Given the description of an element on the screen output the (x, y) to click on. 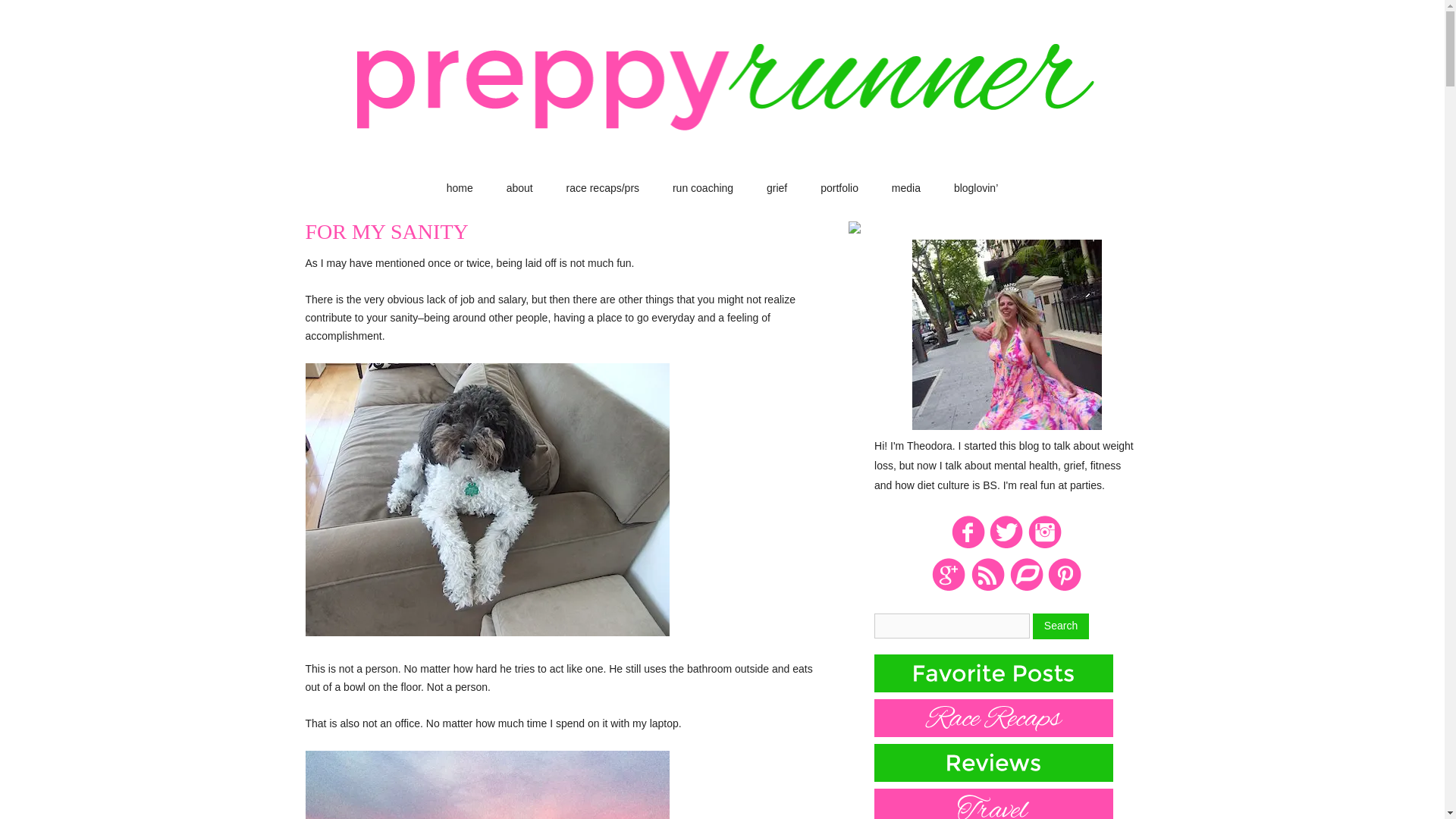
run coaching (702, 188)
Facebook (967, 545)
Running Training Log (1026, 588)
Search (1060, 626)
about (519, 188)
Instagram (1044, 545)
media (905, 188)
Twitter (1006, 545)
portfolio (840, 188)
skip to content (756, 185)
RSS Feed (987, 588)
Google Plus (948, 588)
Skip to content (756, 185)
home (459, 188)
